Given the description of an element on the screen output the (x, y) to click on. 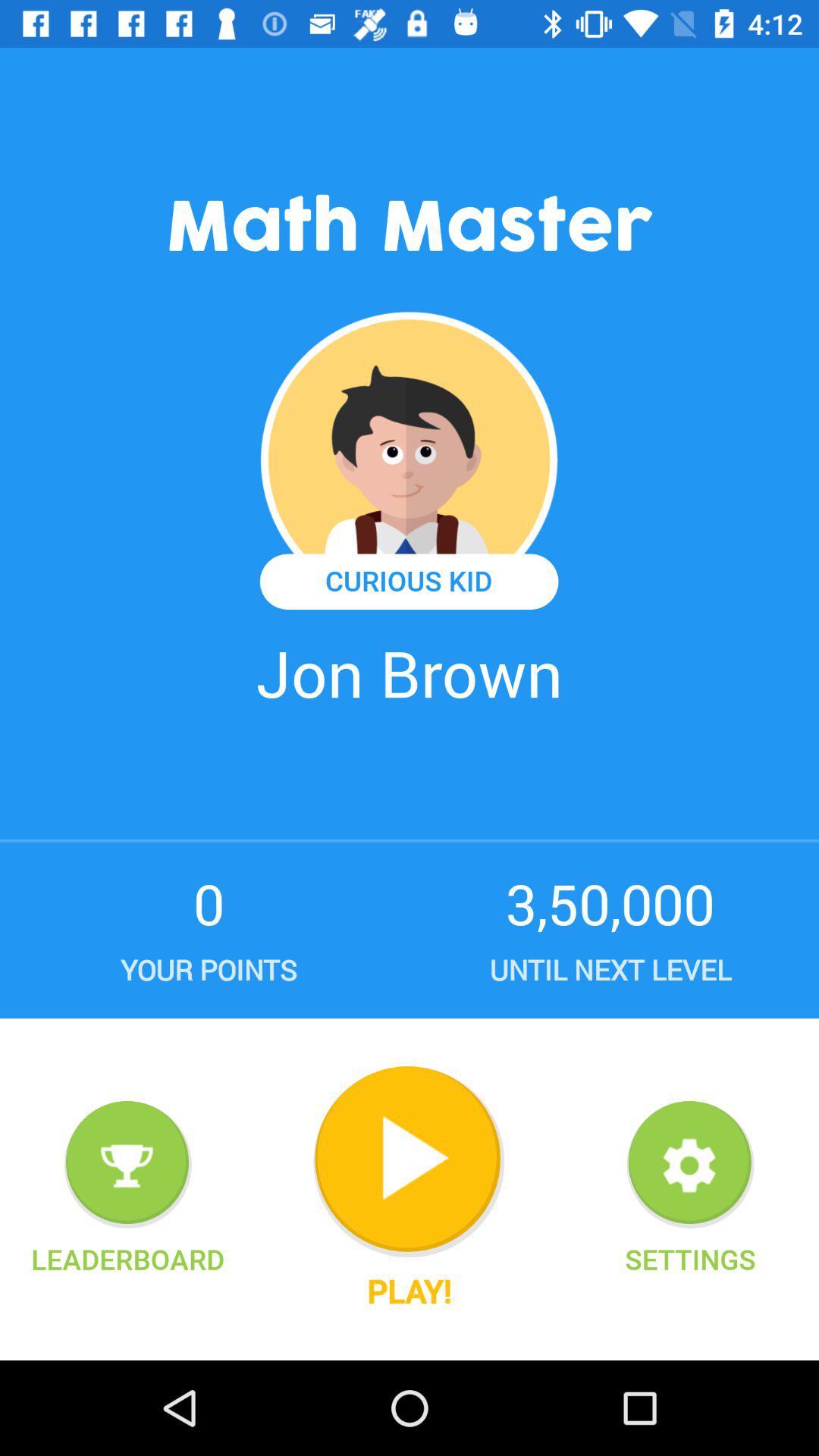
play (408, 1161)
